Given the description of an element on the screen output the (x, y) to click on. 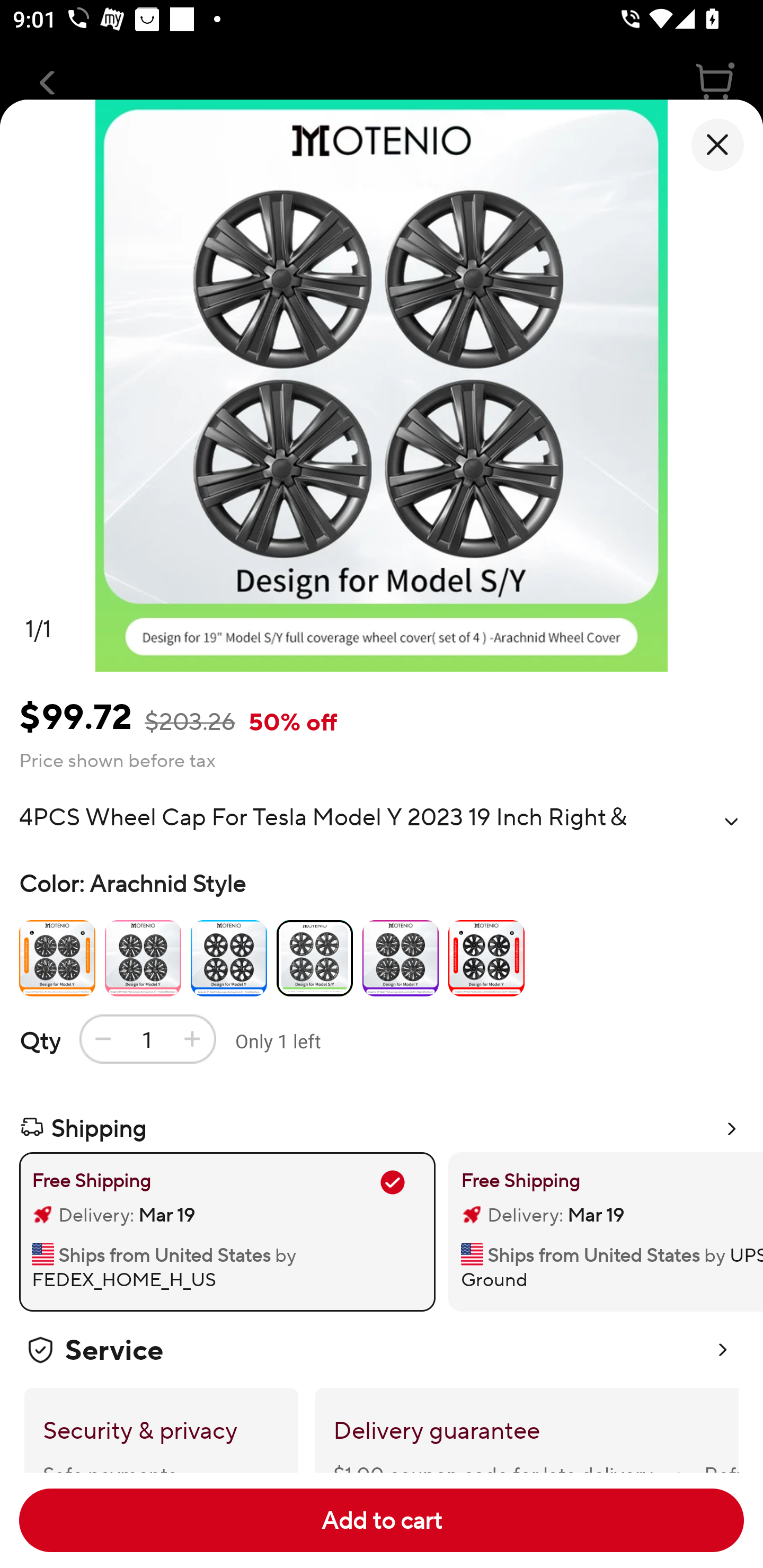
close  (717, 144)
 (730, 821)
Add to cart (381, 1520)
